Given the description of an element on the screen output the (x, y) to click on. 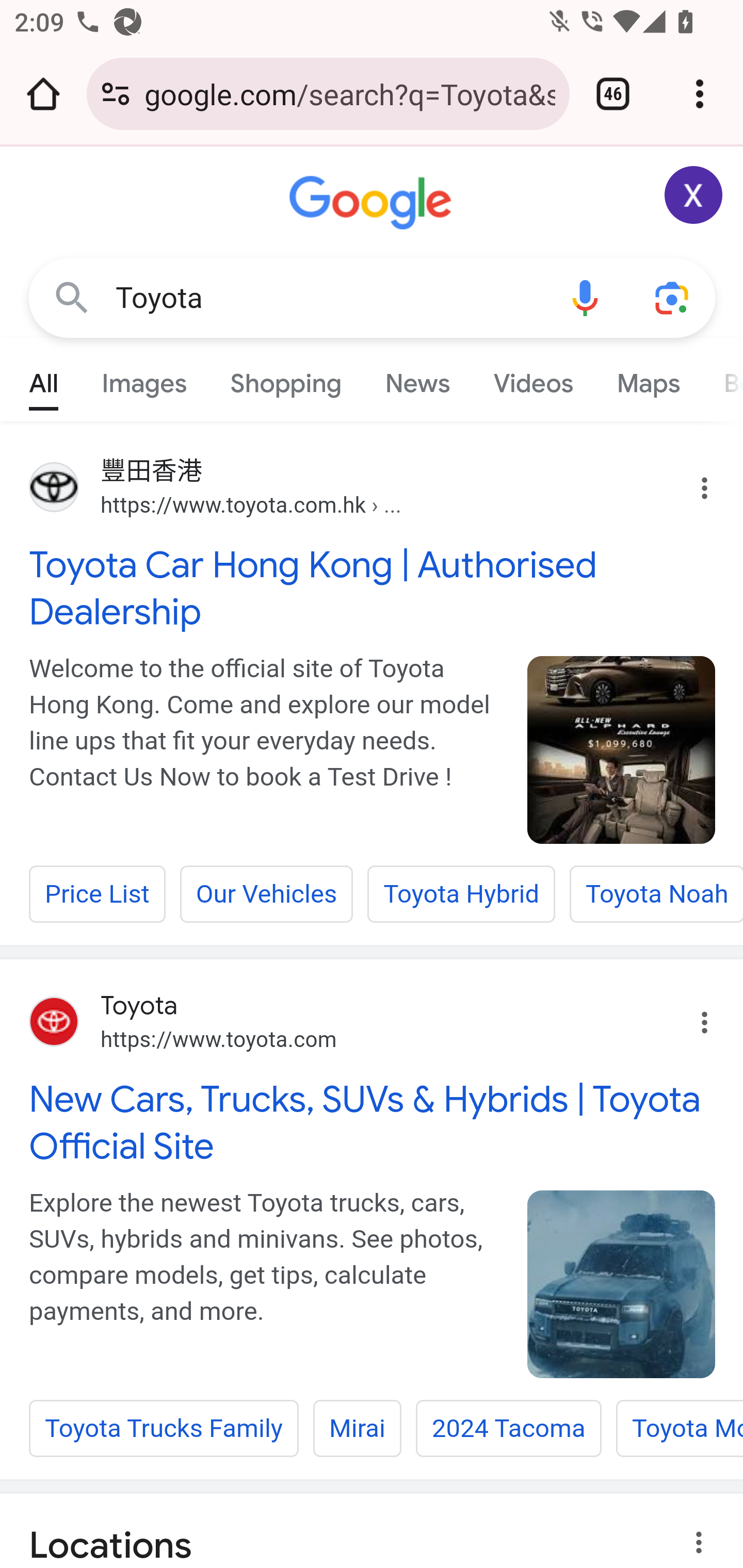
Open the home page (43, 93)
Connection is secure (115, 93)
Switch or close tabs (612, 93)
Customize and control Google Chrome (699, 93)
Google (372, 203)
Google Account: Xiaoran (zxrappiumtest@gmail.com) (694, 195)
Google Search (71, 296)
Search using your camera or photos (672, 296)
Toyota (328, 297)
Images (144, 378)
Shopping (285, 378)
News (417, 378)
Videos (533, 378)
Maps (647, 378)
Toyota Car Hong Kong | Authorised Dealership (372, 587)
en (621, 750)
Price List (97, 893)
Our Vehicles (265, 893)
Toyota Hybrid (461, 893)
Toyota Noah (655, 893)
www.toyota (621, 1284)
Toyota Trucks Family (163, 1428)
Mirai (357, 1428)
2024 Tacoma (509, 1428)
Toyota Motor Sales (678, 1428)
About this result (702, 1541)
